Given the description of an element on the screen output the (x, y) to click on. 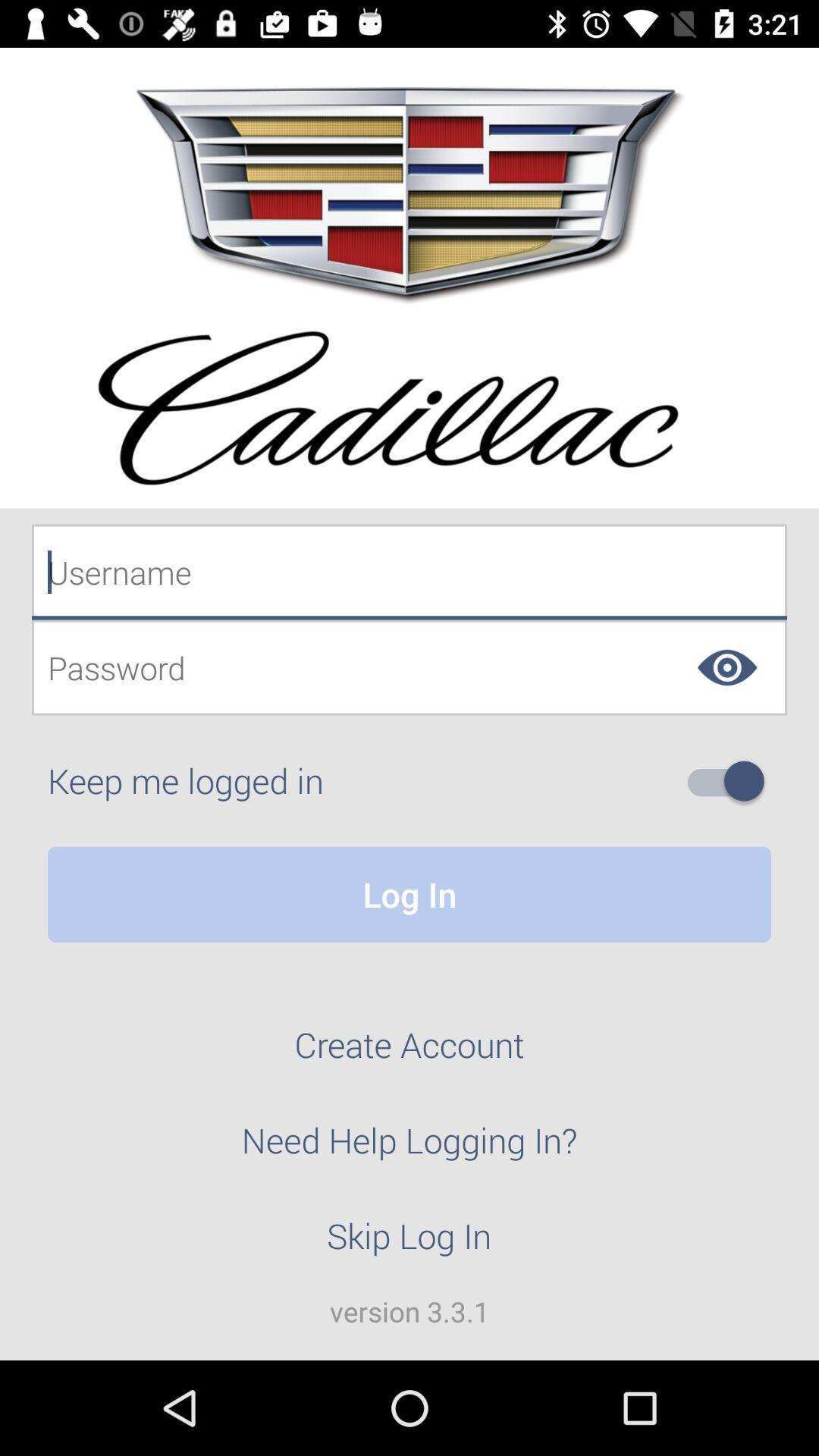
enter password (409, 667)
